Given the description of an element on the screen output the (x, y) to click on. 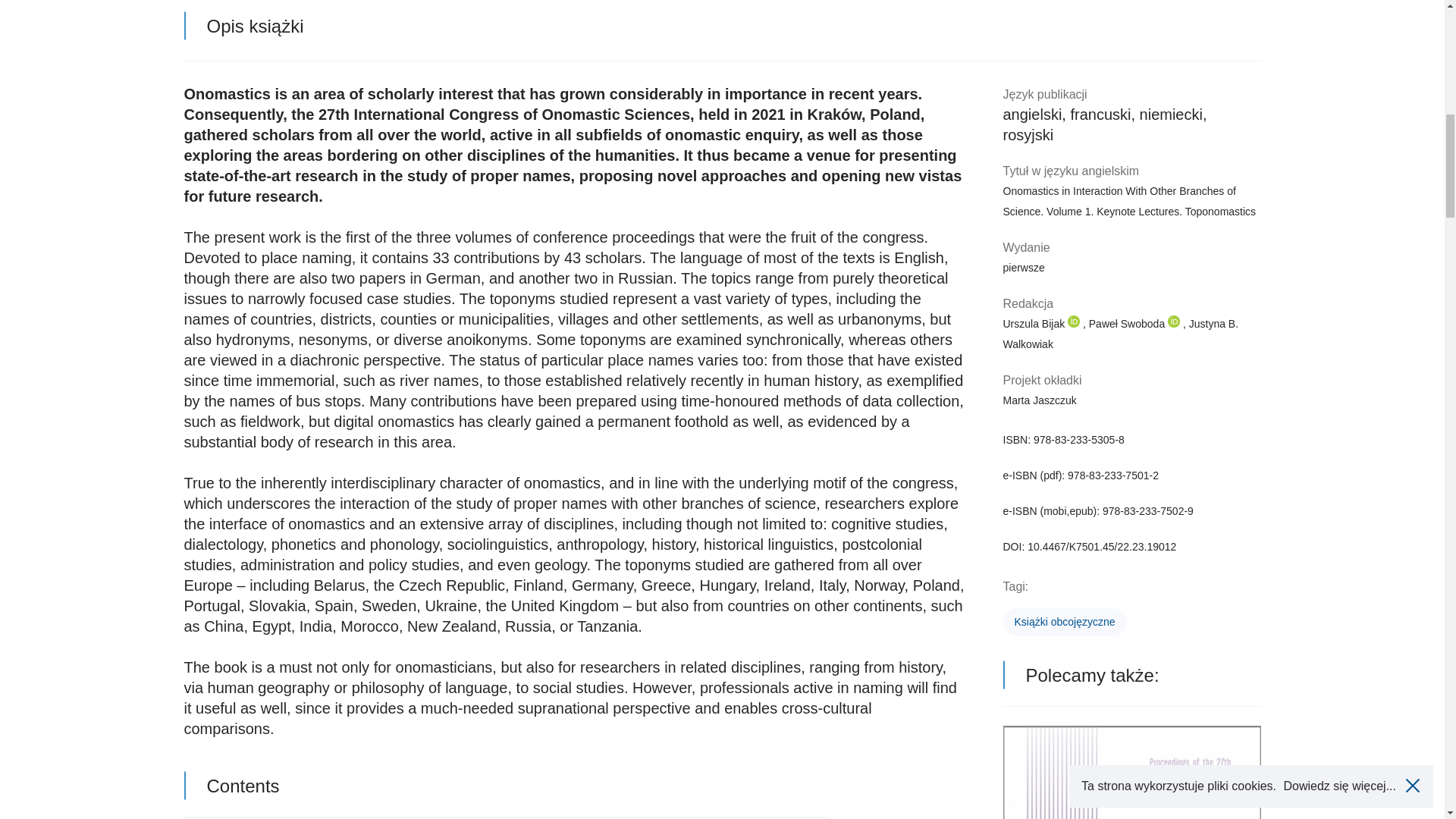
ORCID Urszula Bijak (1073, 321)
